Given the description of an element on the screen output the (x, y) to click on. 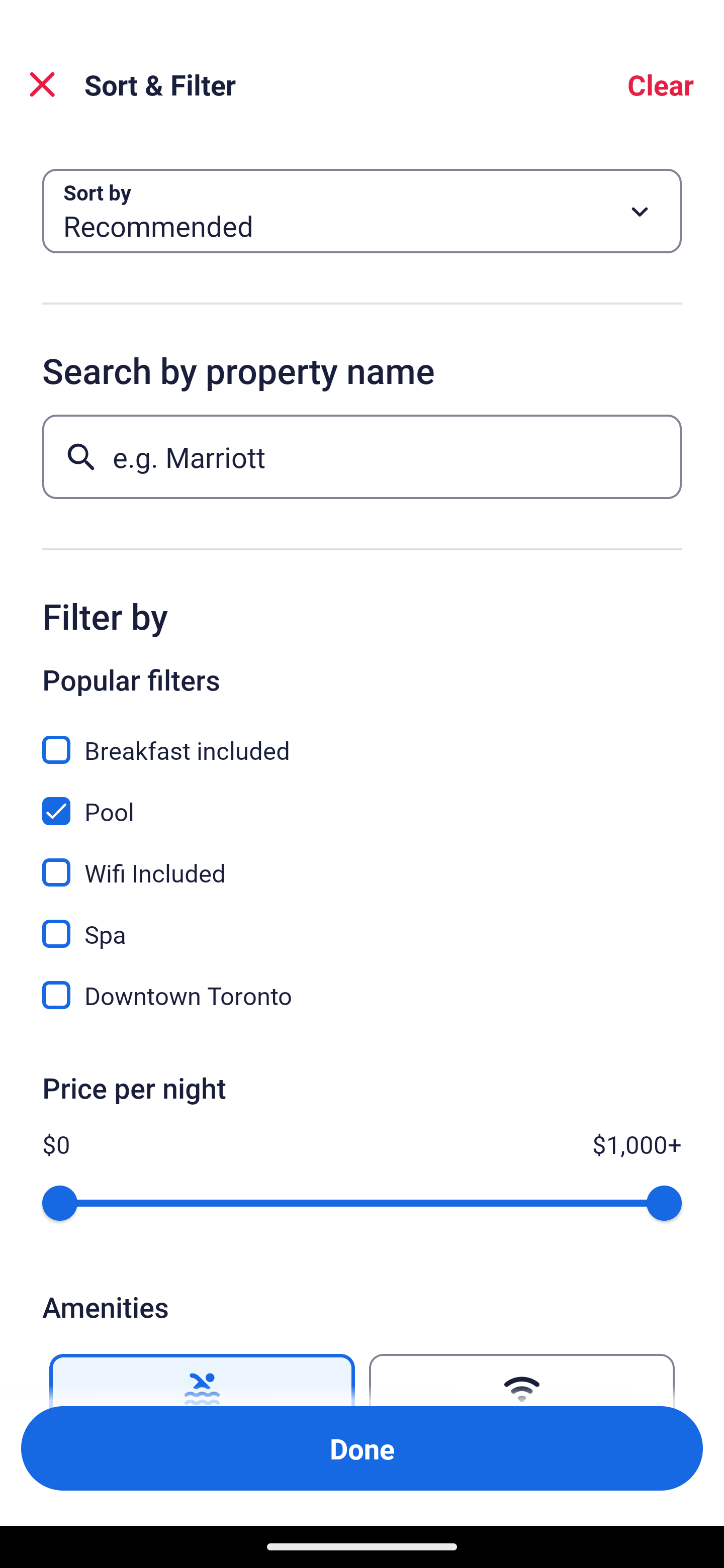
Close Sort and Filter (42, 84)
Clear (660, 84)
Sort by Button Recommended (361, 211)
e.g. Marriott Button (361, 455)
Breakfast included, Breakfast included (361, 738)
Pool, Pool (361, 800)
Wifi Included, Wifi Included (361, 861)
Spa, Spa (361, 922)
Downtown Toronto, Downtown Toronto (361, 995)
Apply and close Sort and Filter Done (361, 1448)
